Given the description of an element on the screen output the (x, y) to click on. 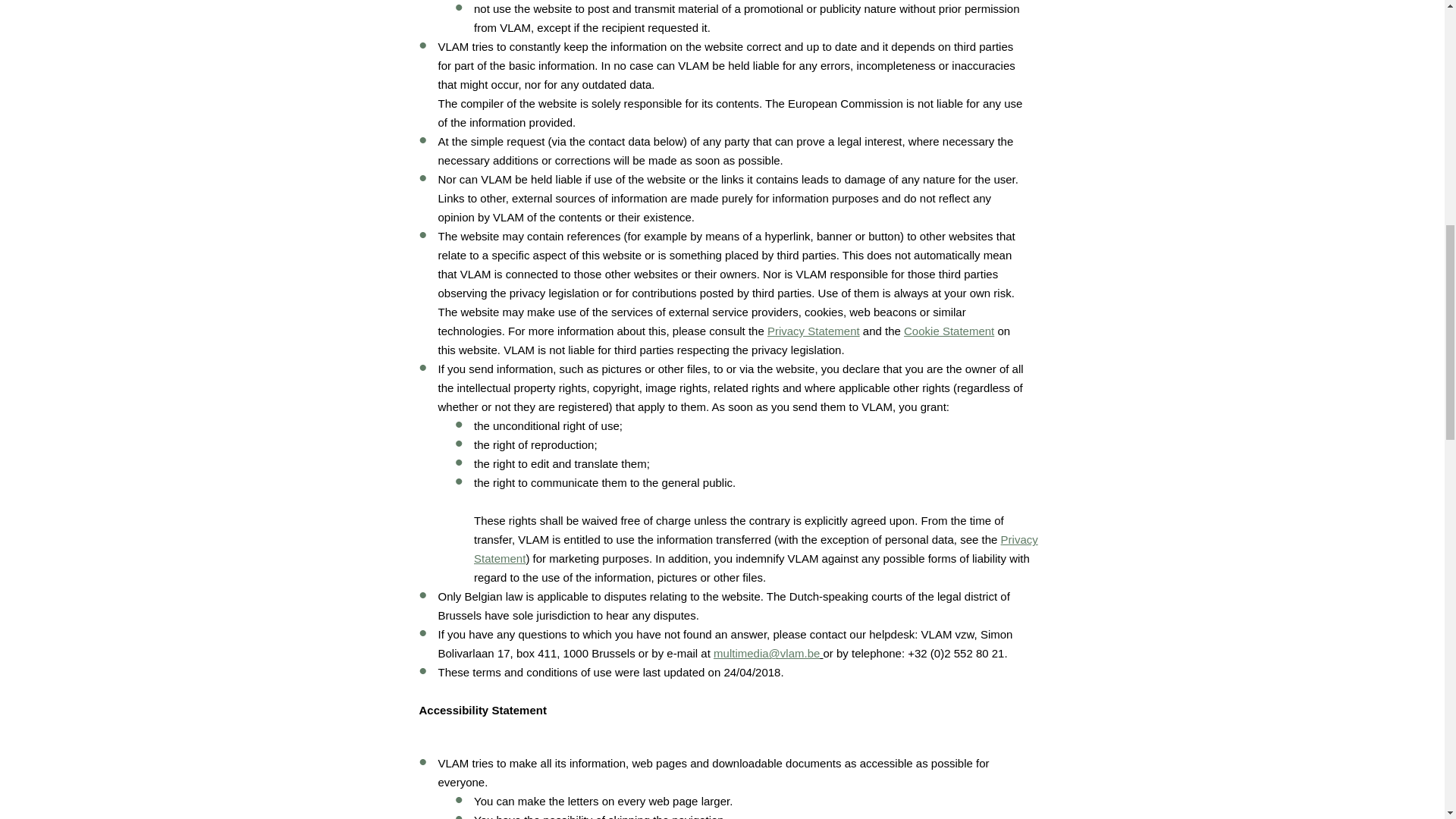
Privacy Statement (813, 330)
Cookie Statement (949, 330)
Privacy Statement (756, 549)
